Given the description of an element on the screen output the (x, y) to click on. 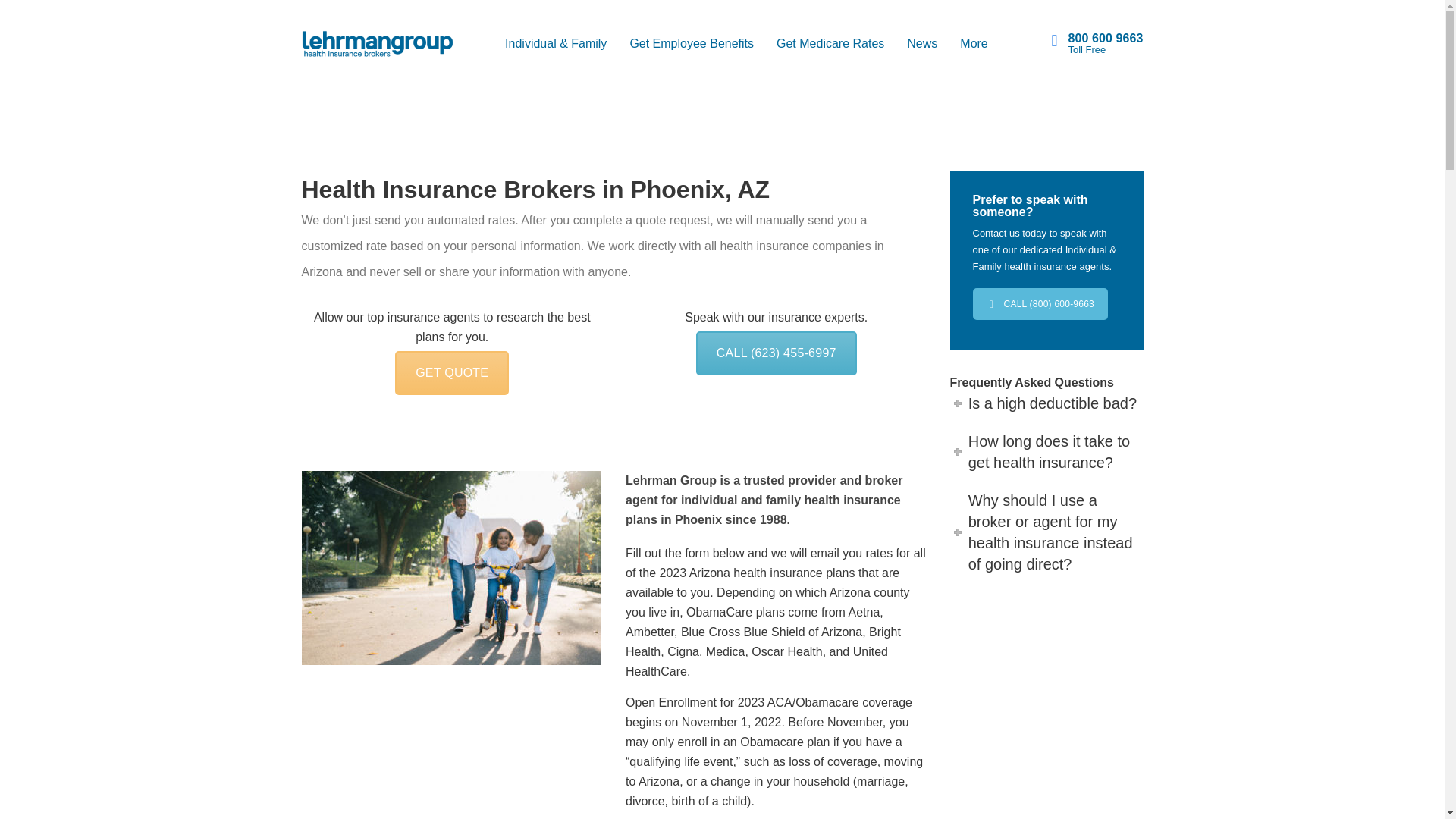
Individual Stand Alone Form (451, 372)
Health Insurance Brokers Phoenix (451, 567)
Get Employee Benefits (691, 43)
GET QUOTE (451, 372)
Phoenix, Arizona (452, 749)
News (922, 43)
More (973, 43)
Speak with our Insurance Expert (776, 353)
Get Medicare Rates (830, 43)
